Given the description of an element on the screen output the (x, y) to click on. 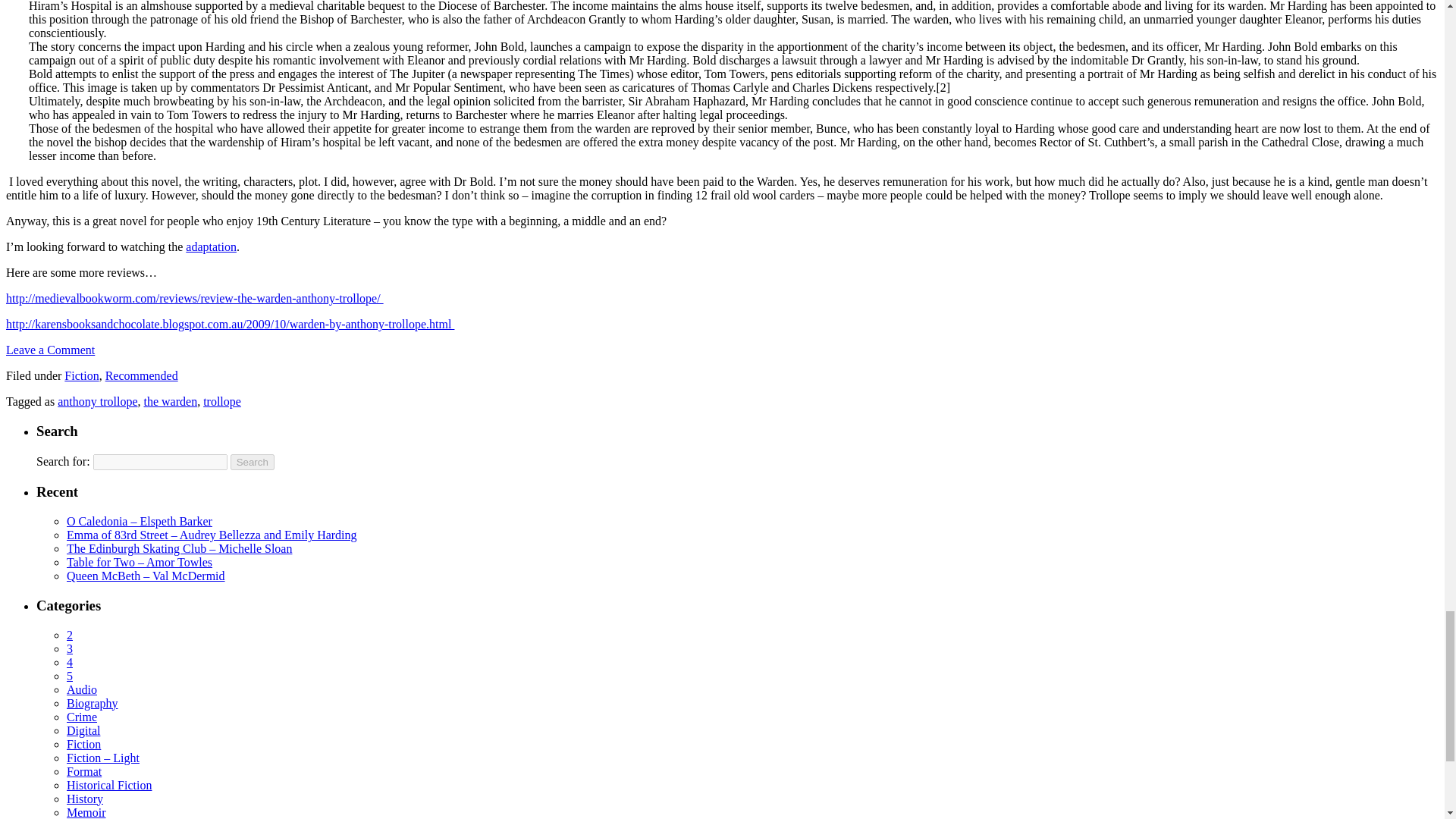
Leave a Comment (49, 349)
trollope (222, 400)
Search (252, 462)
adaptation (210, 246)
anthony trollope (97, 400)
Search (252, 462)
Fiction (81, 375)
Recommended (140, 375)
the warden (171, 400)
